Given the description of an element on the screen output the (x, y) to click on. 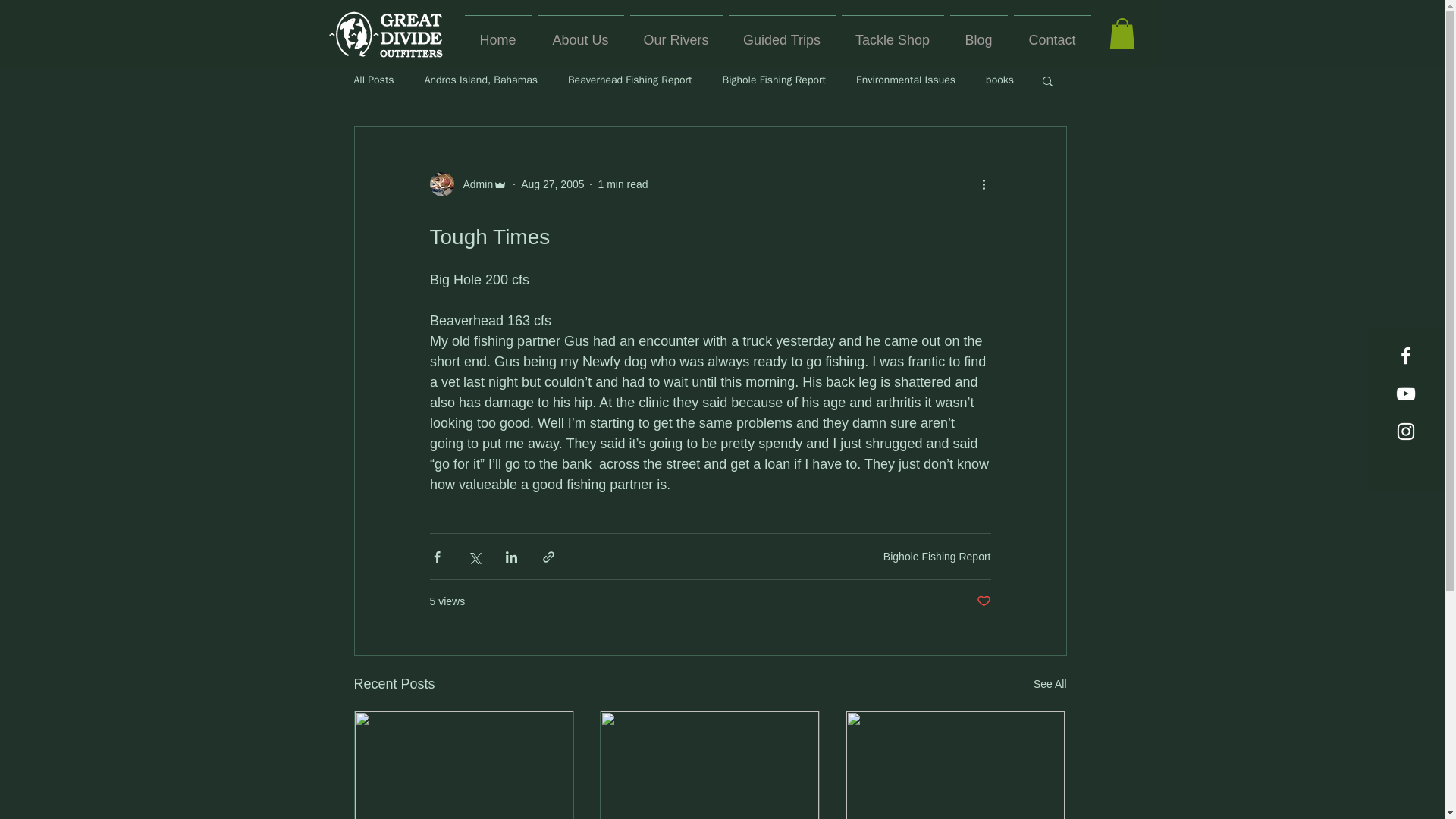
Tackle Shop (892, 33)
Aug 27, 2005 (552, 183)
Andros Island, Bahamas (481, 79)
1 min read (621, 183)
Bighole Fishing Report (773, 79)
books (999, 79)
Environmental Issues (905, 79)
Post not marked as liked (983, 601)
See All (1050, 684)
Home (497, 33)
